Given the description of an element on the screen output the (x, y) to click on. 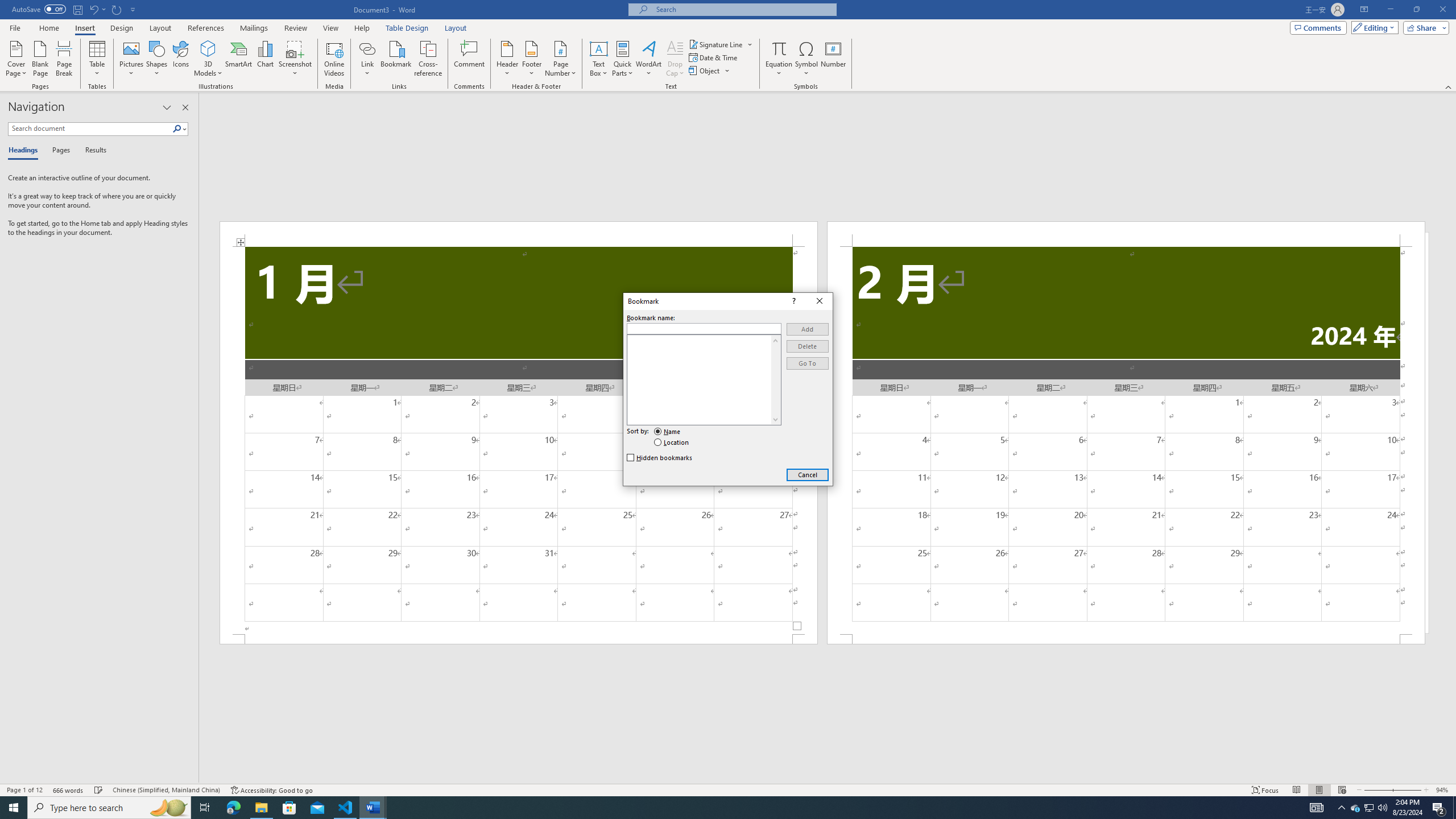
Go To (807, 363)
Quick Access Toolbar (74, 9)
Page Number (560, 58)
Microsoft Edge (233, 807)
Add (807, 328)
Cancel (807, 474)
3D Models (208, 58)
Blank Page (40, 58)
Start (13, 807)
Header (507, 58)
Pictures (131, 58)
SmartArt... (238, 58)
Type here to search (108, 807)
